Given the description of an element on the screen output the (x, y) to click on. 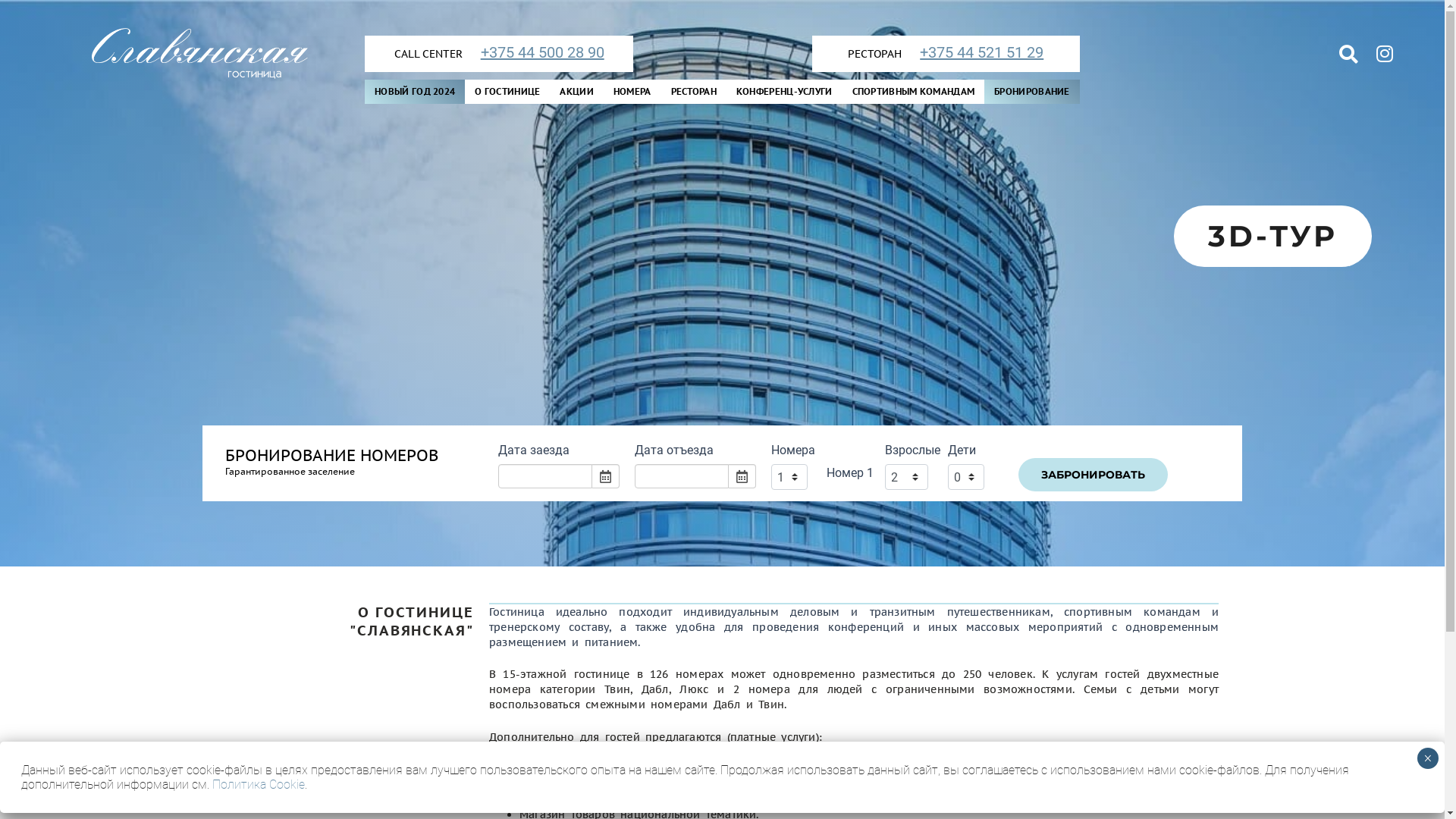
Instagram Element type: text (1384, 53)
+375 44 521 51 29 Element type: text (973, 53)
+375 44 500 28 90 Element type: text (534, 53)
